Given the description of an element on the screen output the (x, y) to click on. 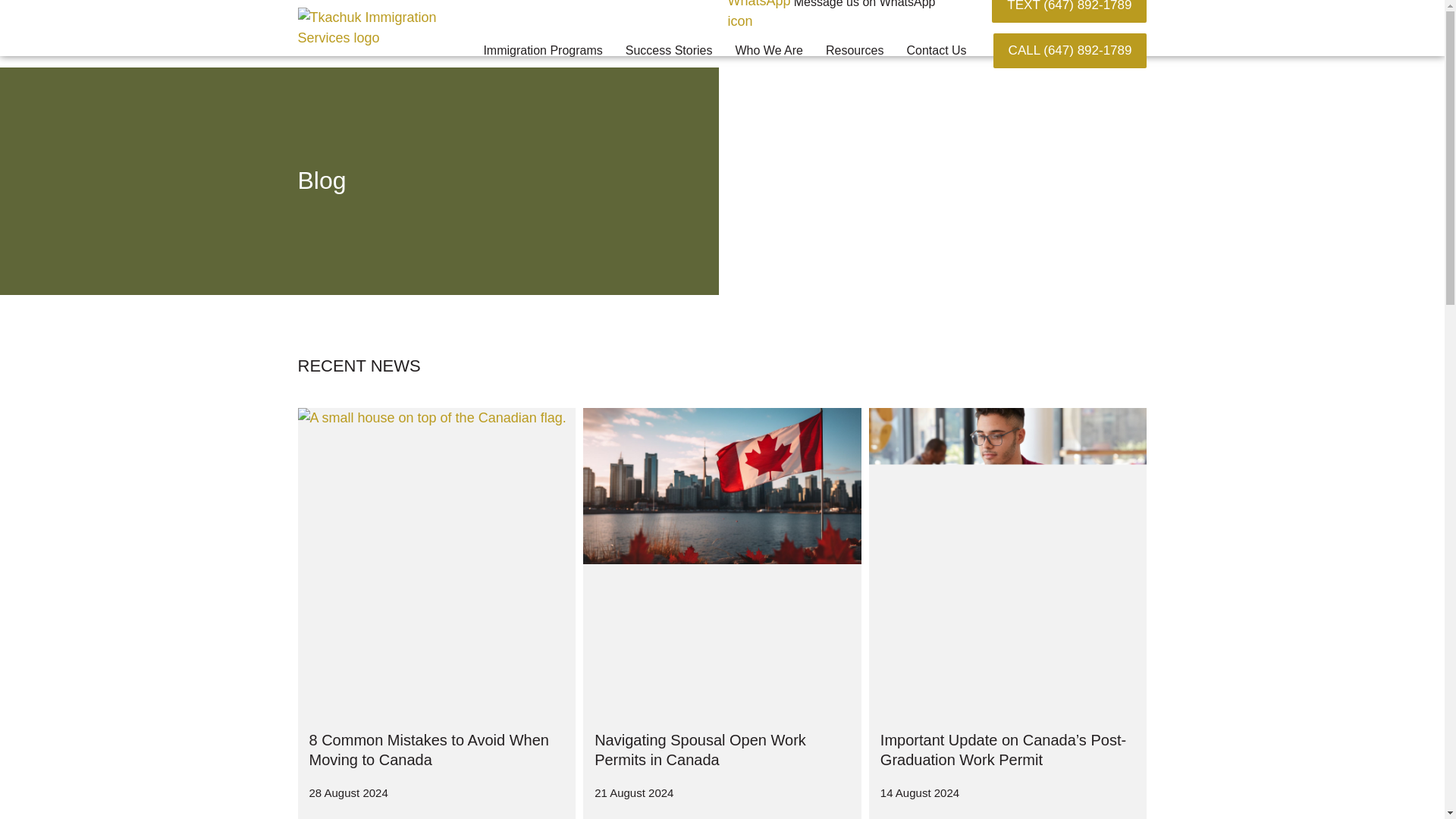
Resources (854, 50)
Who We Are (768, 50)
Success Stories (668, 50)
Immigration Programs (541, 50)
Contact Us (935, 50)
Message us on WhatsApp (864, 4)
